Given the description of an element on the screen output the (x, y) to click on. 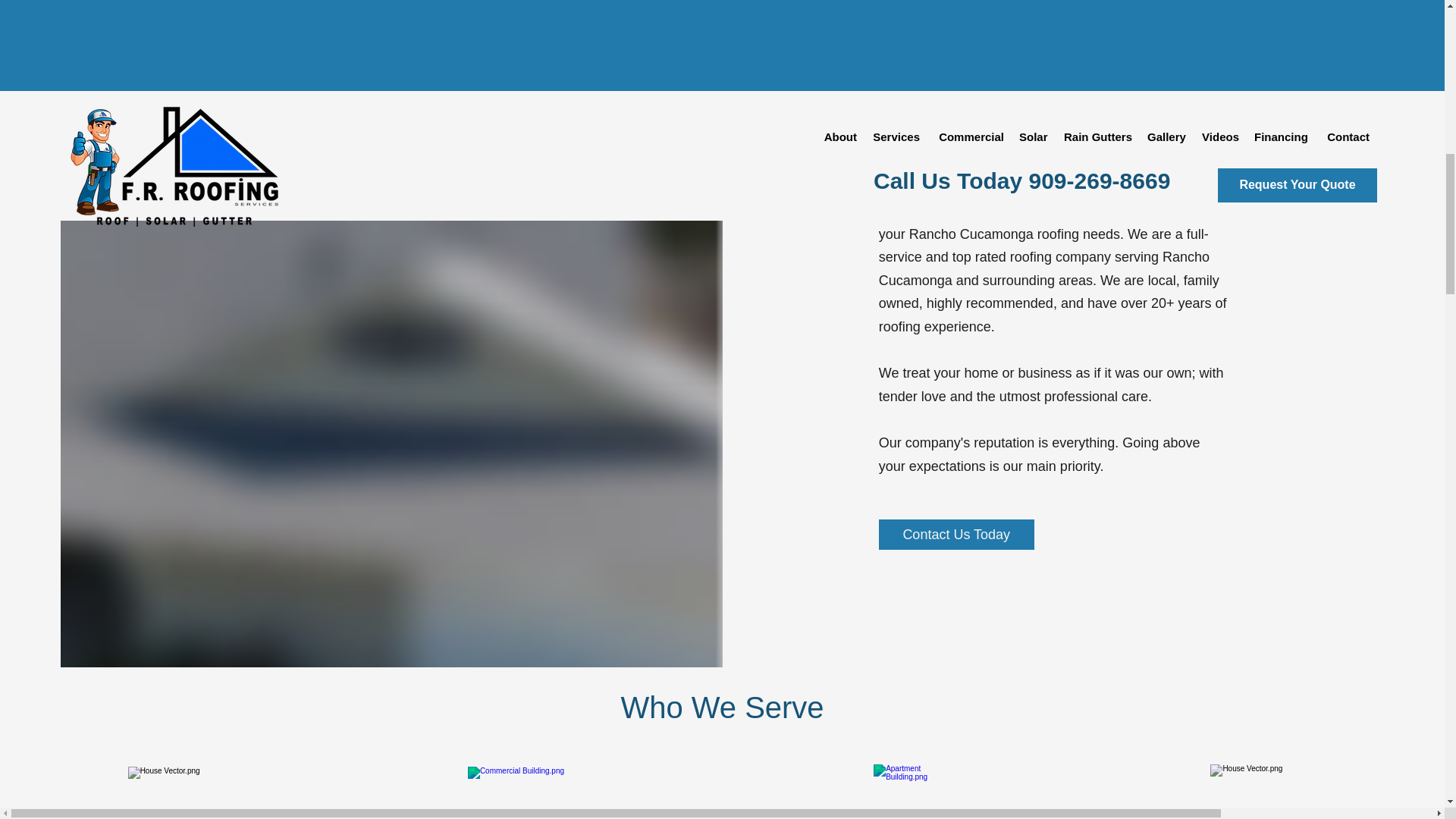
Contact Us Today (956, 534)
